Given the description of an element on the screen output the (x, y) to click on. 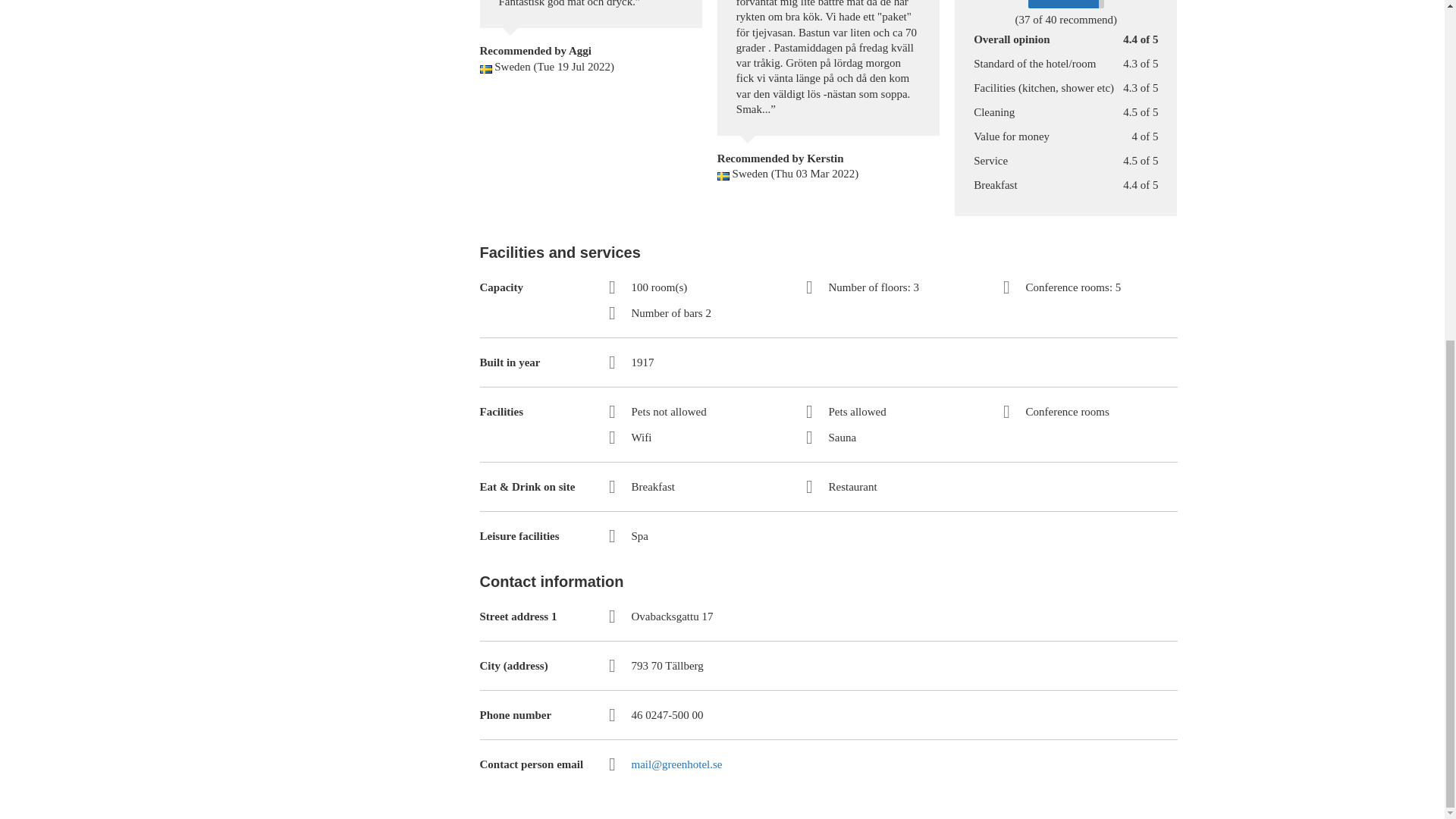
Green Hotel from above in the evening wintertime.  (1025, 433)
Outdoor pool and several flagpoles in a row.  (1025, 266)
View over treetops with autumn leaves and lake Siljan.   (1025, 98)
Flowering trees and a gravel road leading to the hotel.  (1025, 601)
